Given the description of an element on the screen output the (x, y) to click on. 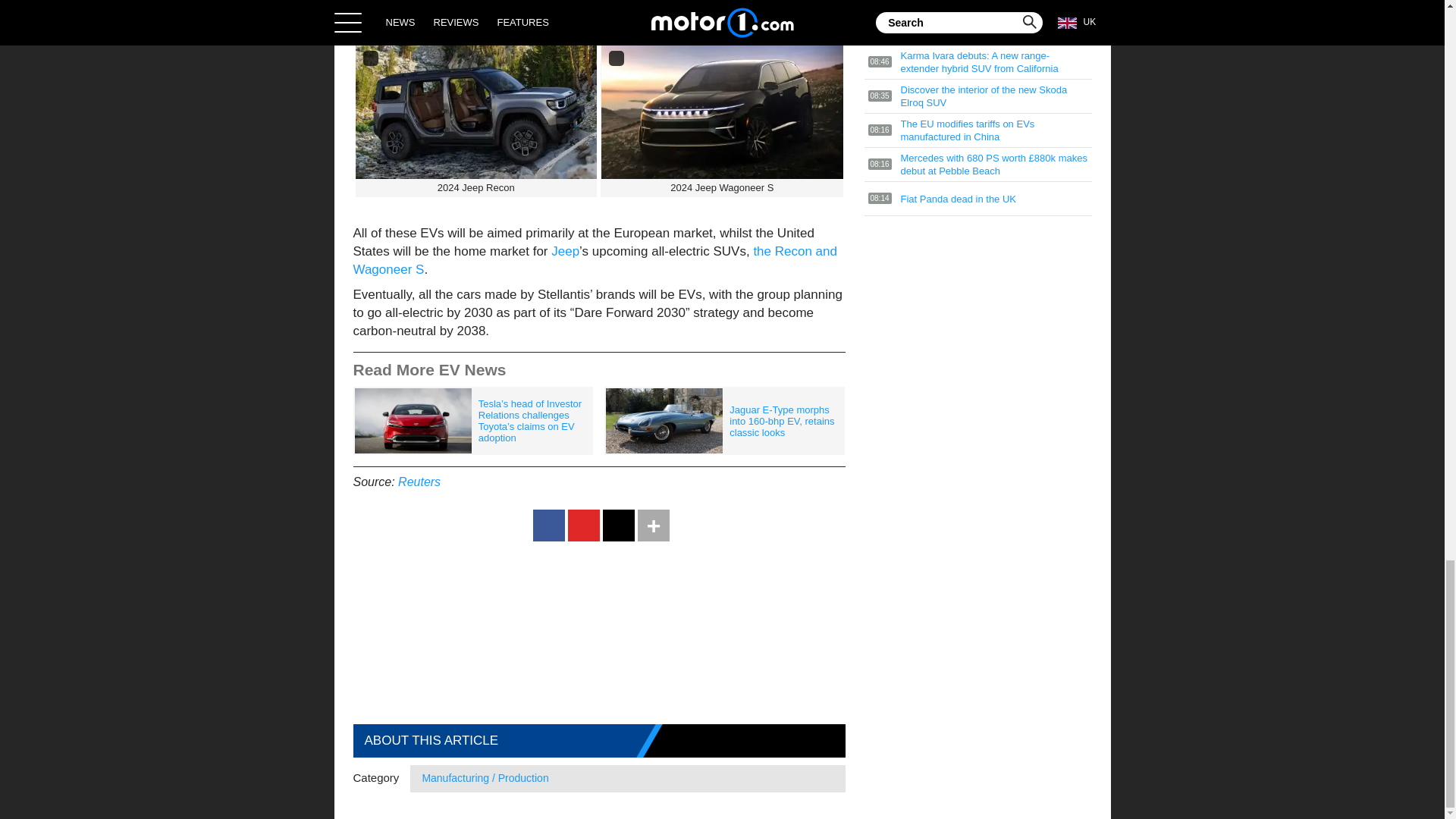
Reuters (419, 481)
Jaguar E-Type morphs into 160-bhp EV, retains classic looks (724, 420)
the Recon and Wagoneer S (595, 260)
Jeep (565, 251)
